Given the description of an element on the screen output the (x, y) to click on. 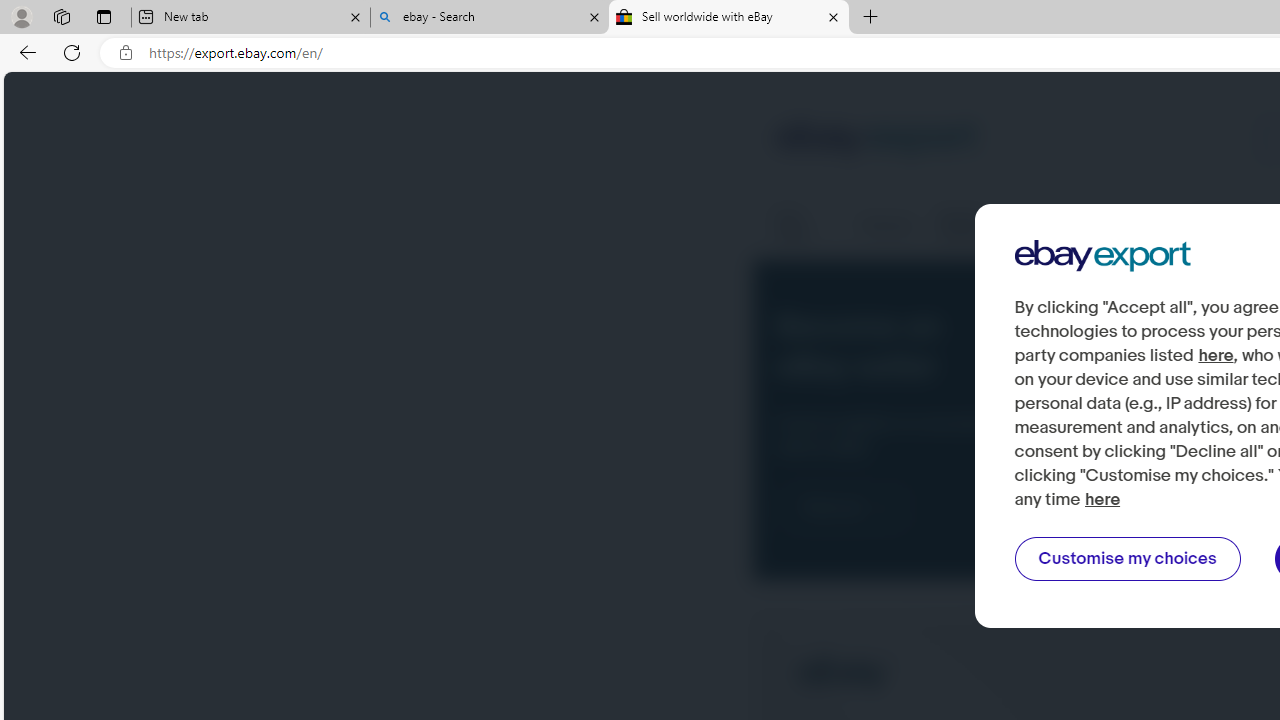
Shipping (886, 226)
Customise my choices (1127, 559)
Manage listings (981, 225)
Class: header__logo (875, 139)
